Given the description of an element on the screen output the (x, y) to click on. 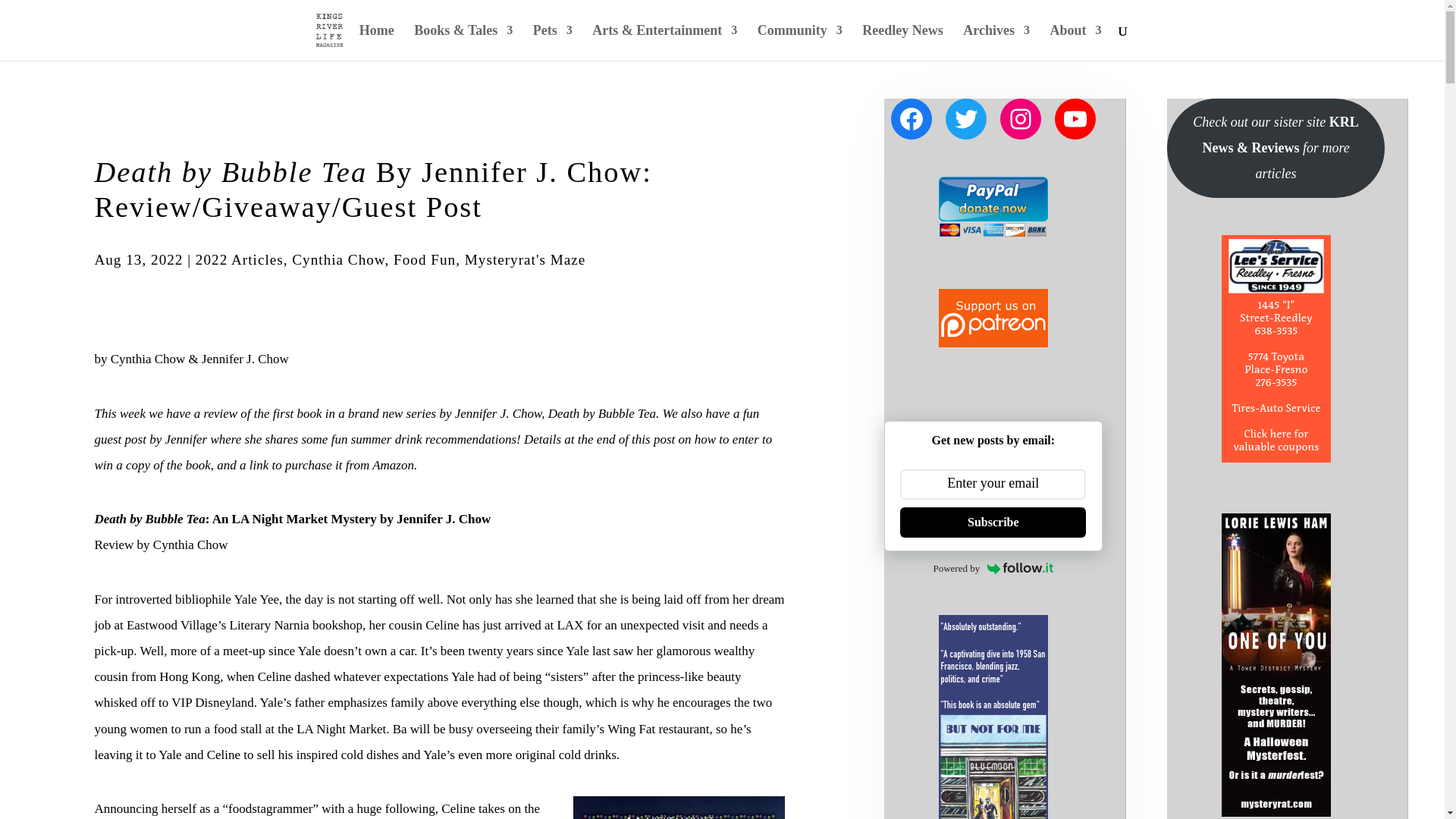
Home (376, 42)
Community (800, 42)
Reedley News (901, 42)
Pets (552, 42)
Archives (995, 42)
